Given the description of an element on the screen output the (x, y) to click on. 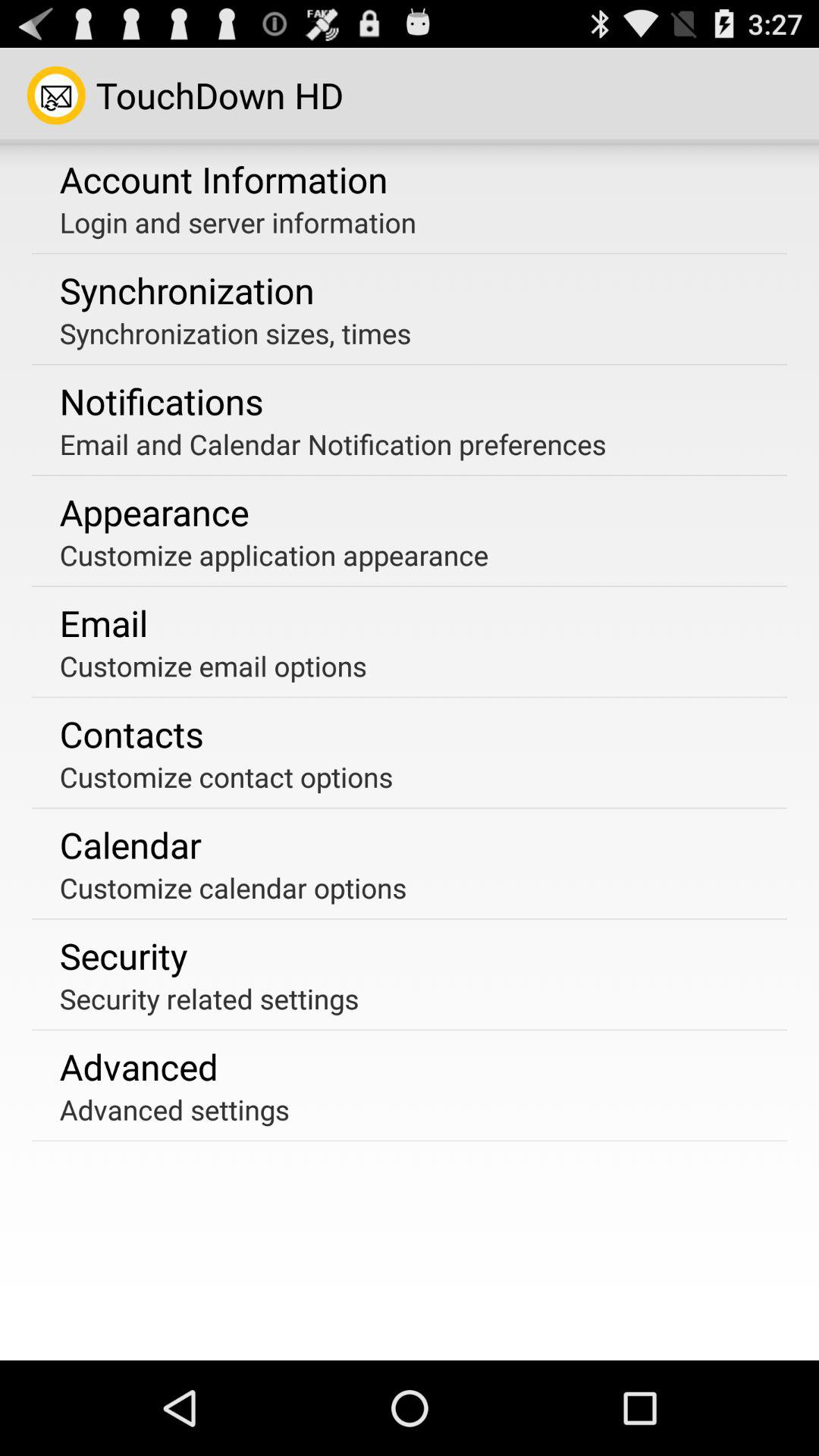
select the email and calendar app (332, 443)
